Given the description of an element on the screen output the (x, y) to click on. 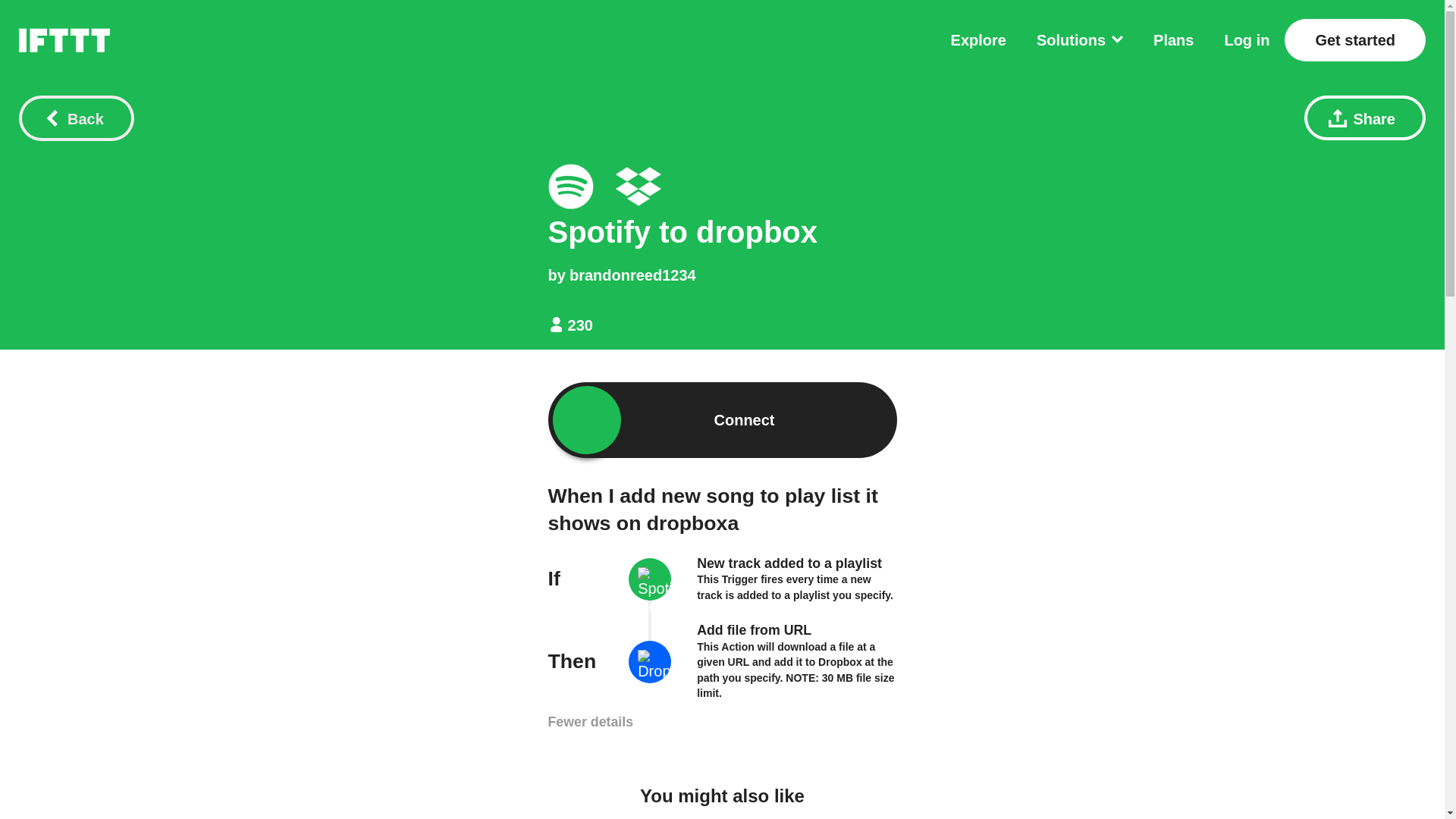
Back (75, 117)
New track added to a playlist (789, 563)
Plans (1173, 39)
Solutions (1079, 39)
Dropbox Add file from URL. (638, 186)
Log in (1246, 39)
Explore (978, 39)
Add file from URL (753, 630)
brandonreed1234 (632, 274)
Get started (1354, 39)
New track added to a playlist (789, 563)
Get started (1354, 39)
Plans (1173, 39)
